Given the description of an element on the screen output the (x, y) to click on. 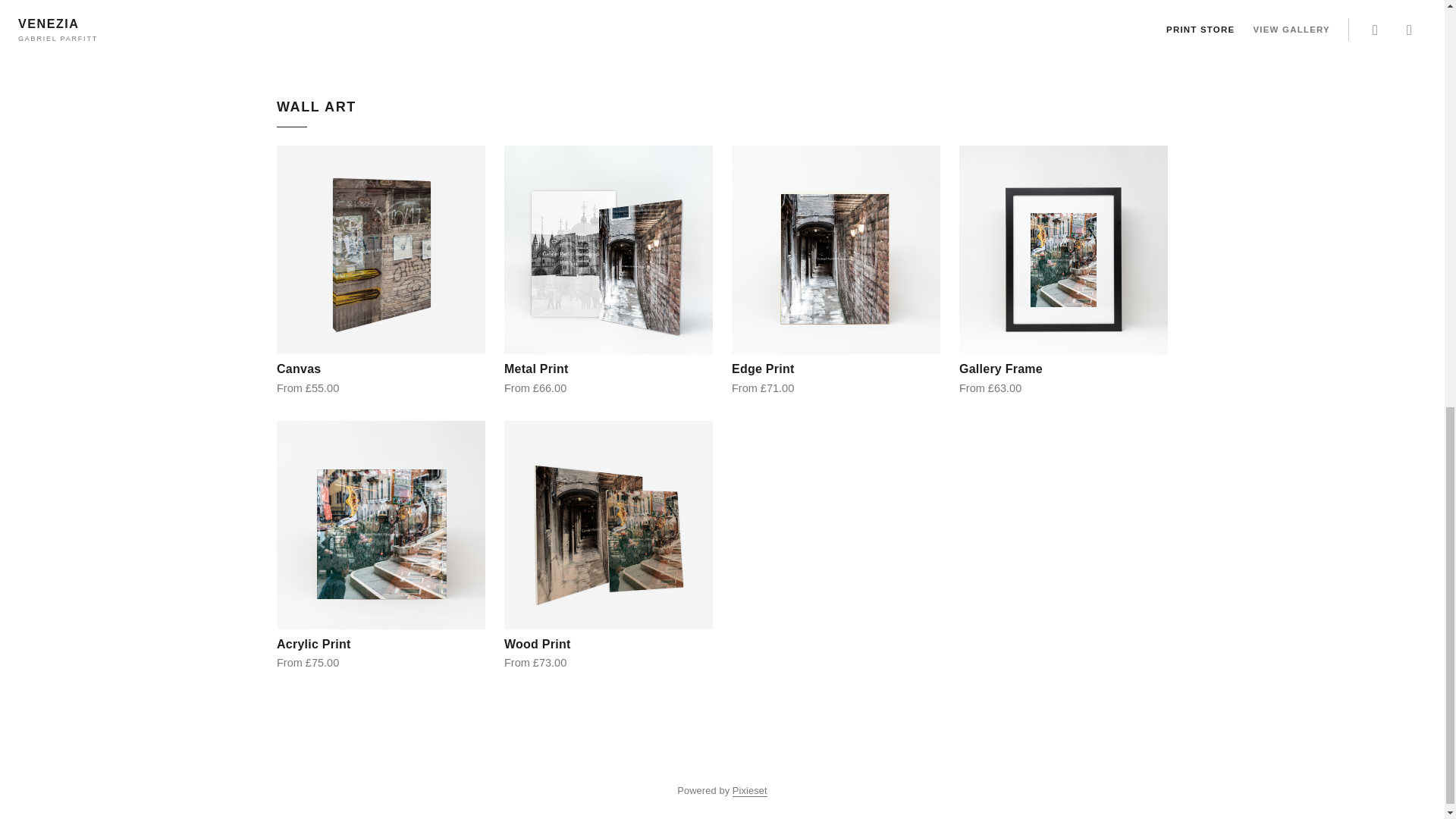
Pixieset (749, 790)
